Given the description of an element on the screen output the (x, y) to click on. 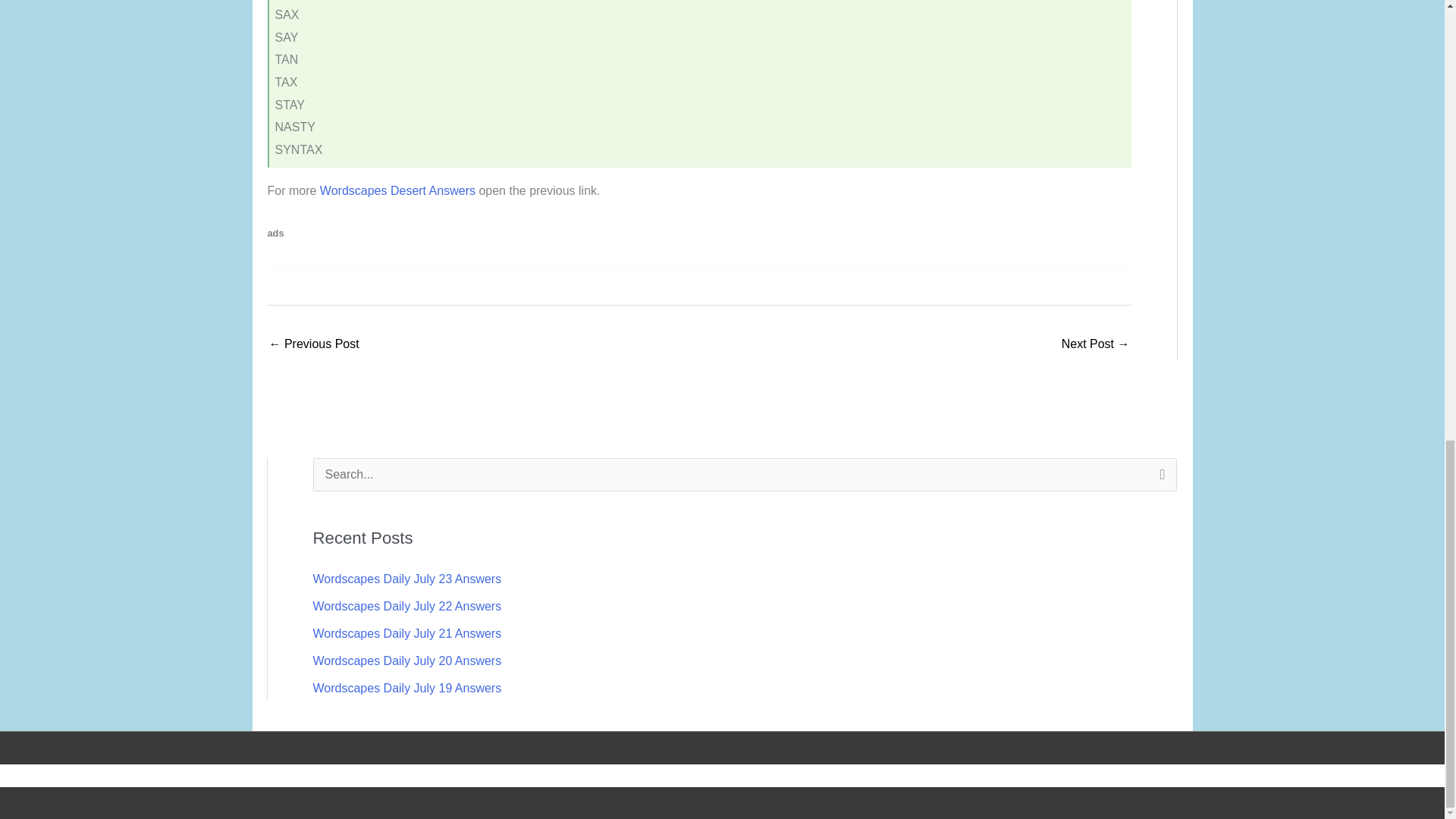
Search (1158, 478)
Wordscapes 775 Answers Desert Dune 7 (312, 345)
Wordscapes Daily July 19 Answers (406, 687)
Wordscapes Daily July 21 Answers (406, 633)
Wordscapes Daily July 23 Answers (406, 578)
Wordscapes Desert Answers (398, 190)
Search (1158, 478)
Wordscapes 757 Answers Desert Sierra 5 (1095, 345)
Wordscapes Daily July 20 Answers (406, 660)
Search (1158, 478)
Wordscapes Daily July 22 Answers (406, 605)
